Given the description of an element on the screen output the (x, y) to click on. 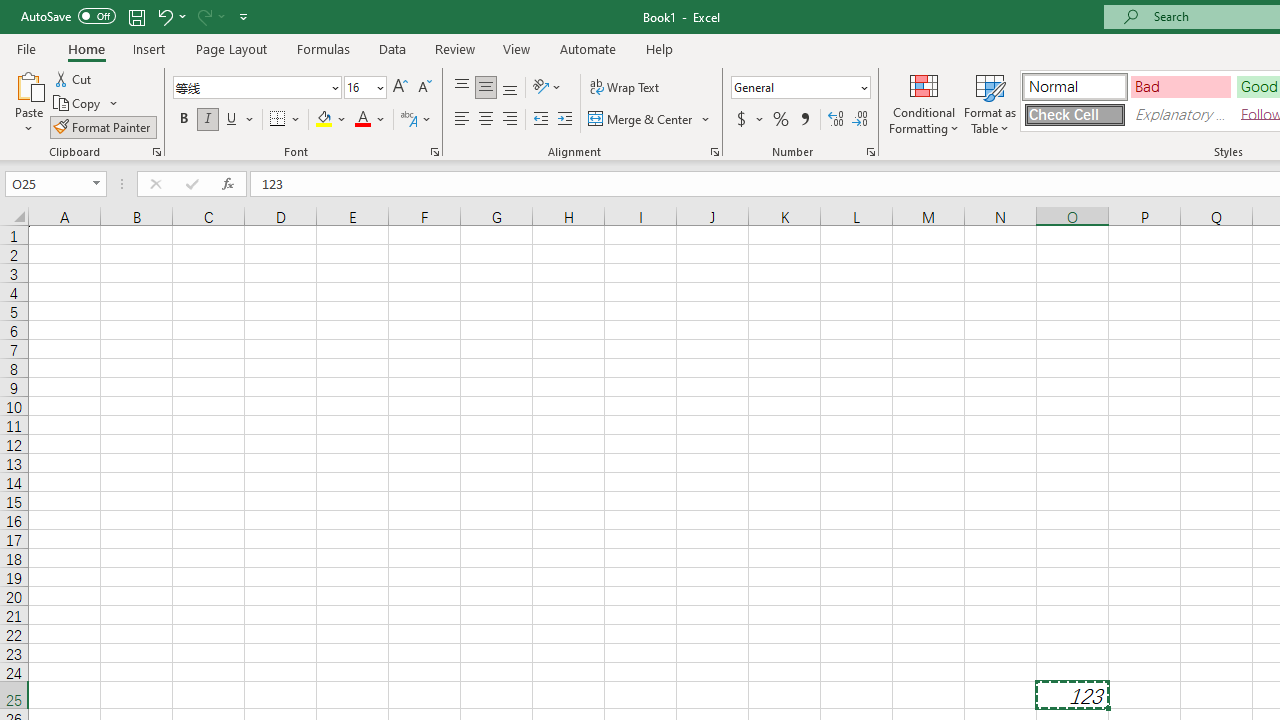
Font Color RGB(255, 0, 0) (362, 119)
Align Left (461, 119)
Quick Access Toolbar (136, 16)
Paste (28, 102)
Name Box (46, 183)
Automate (588, 48)
Fill Color RGB(255, 255, 0) (324, 119)
Italic (207, 119)
Percent Style (781, 119)
Insert (149, 48)
Number Format (800, 87)
Decrease Decimal (859, 119)
Borders (285, 119)
Show Phonetic Field (416, 119)
